Given the description of an element on the screen output the (x, y) to click on. 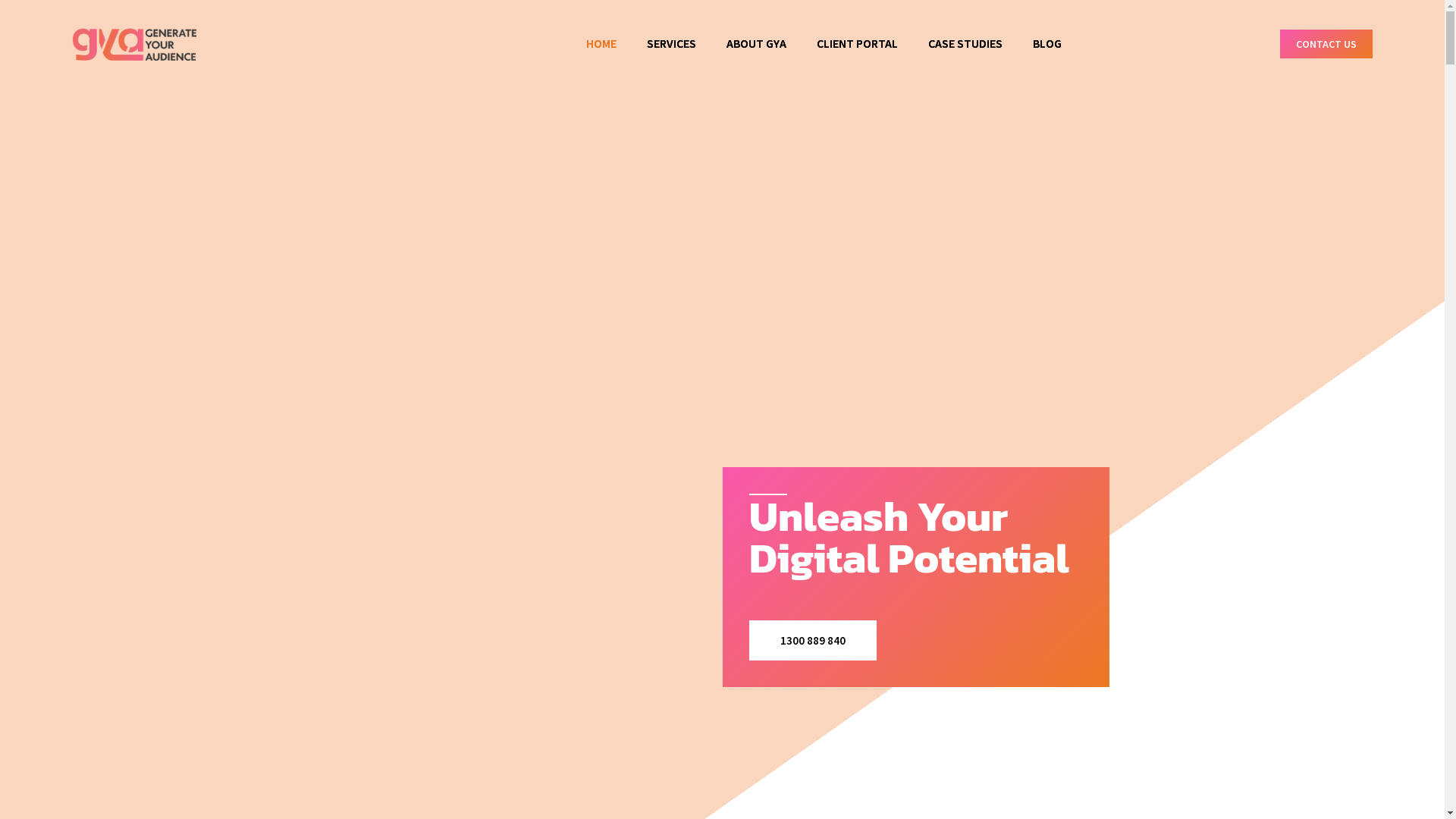
CONTACT US Element type: text (1326, 43)
CASE STUDIES Element type: text (965, 43)
BLOG Element type: text (1046, 43)
CLIENT PORTAL Element type: text (857, 43)
ABOUT GYA Element type: text (756, 43)
HOME Element type: text (601, 43)
SERVICES Element type: text (671, 43)
1300 889 840 Element type: text (812, 640)
